Given the description of an element on the screen output the (x, y) to click on. 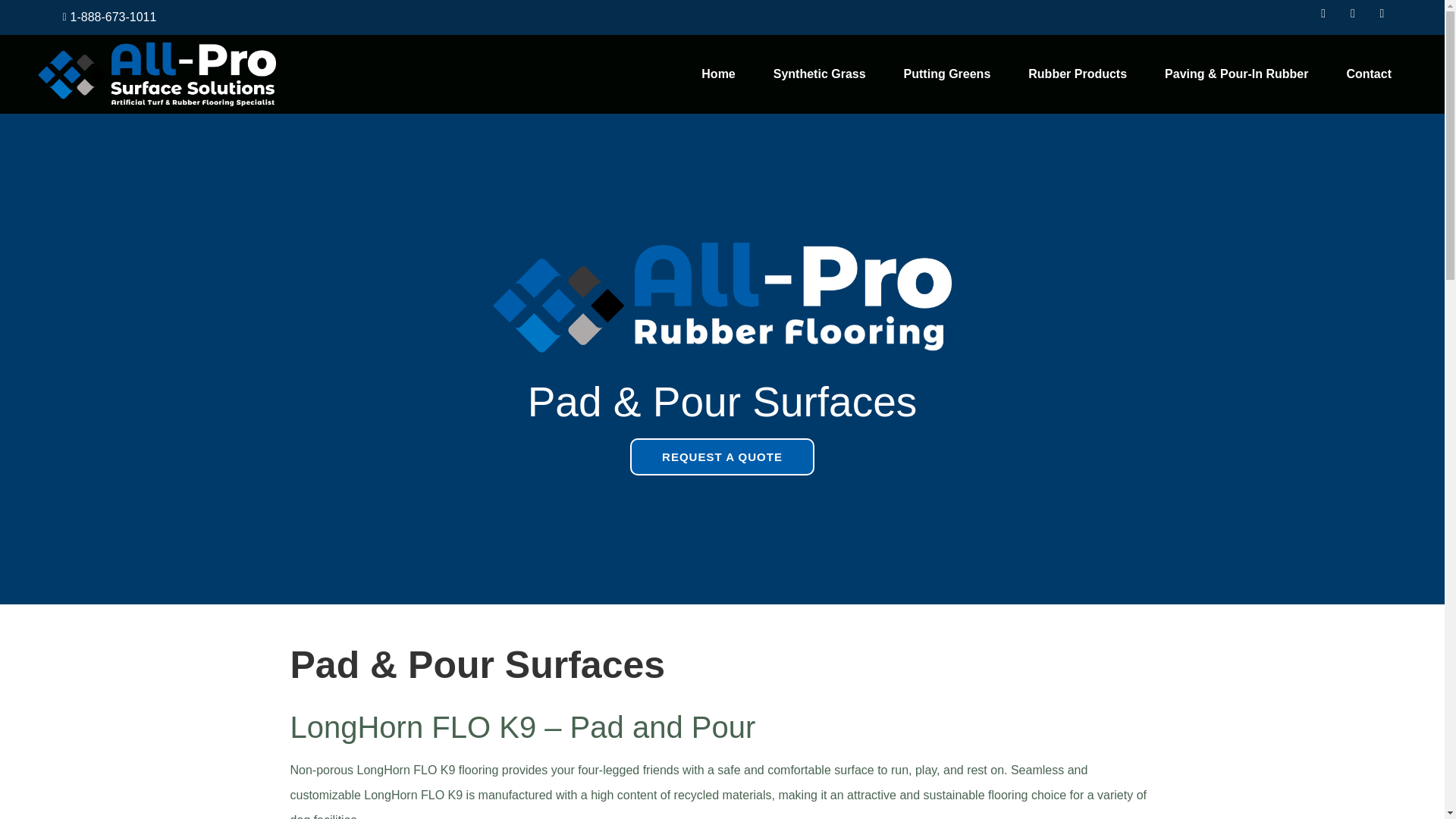
Putting Greens (947, 73)
Synthetic Grass (819, 73)
Home (717, 73)
Rubber Products (1077, 73)
1-888-673-1011 (103, 17)
